Given the description of an element on the screen output the (x, y) to click on. 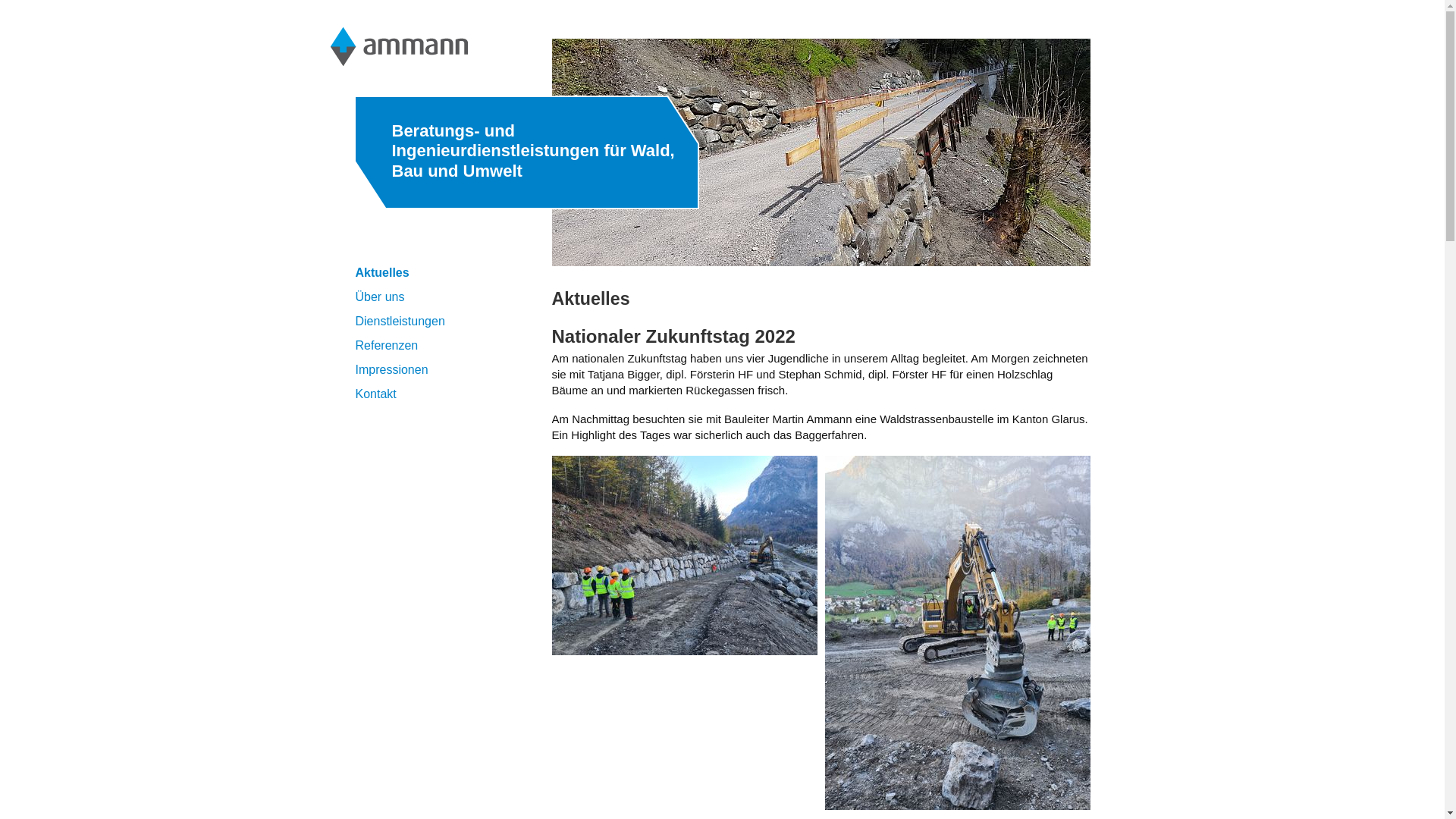
Impressionen Element type: text (390, 369)
Dienstleistungen Element type: text (399, 320)
Kontakt Element type: text (374, 393)
Aktuelles Element type: text (381, 272)
Referenzen Element type: text (385, 344)
